Given the description of an element on the screen output the (x, y) to click on. 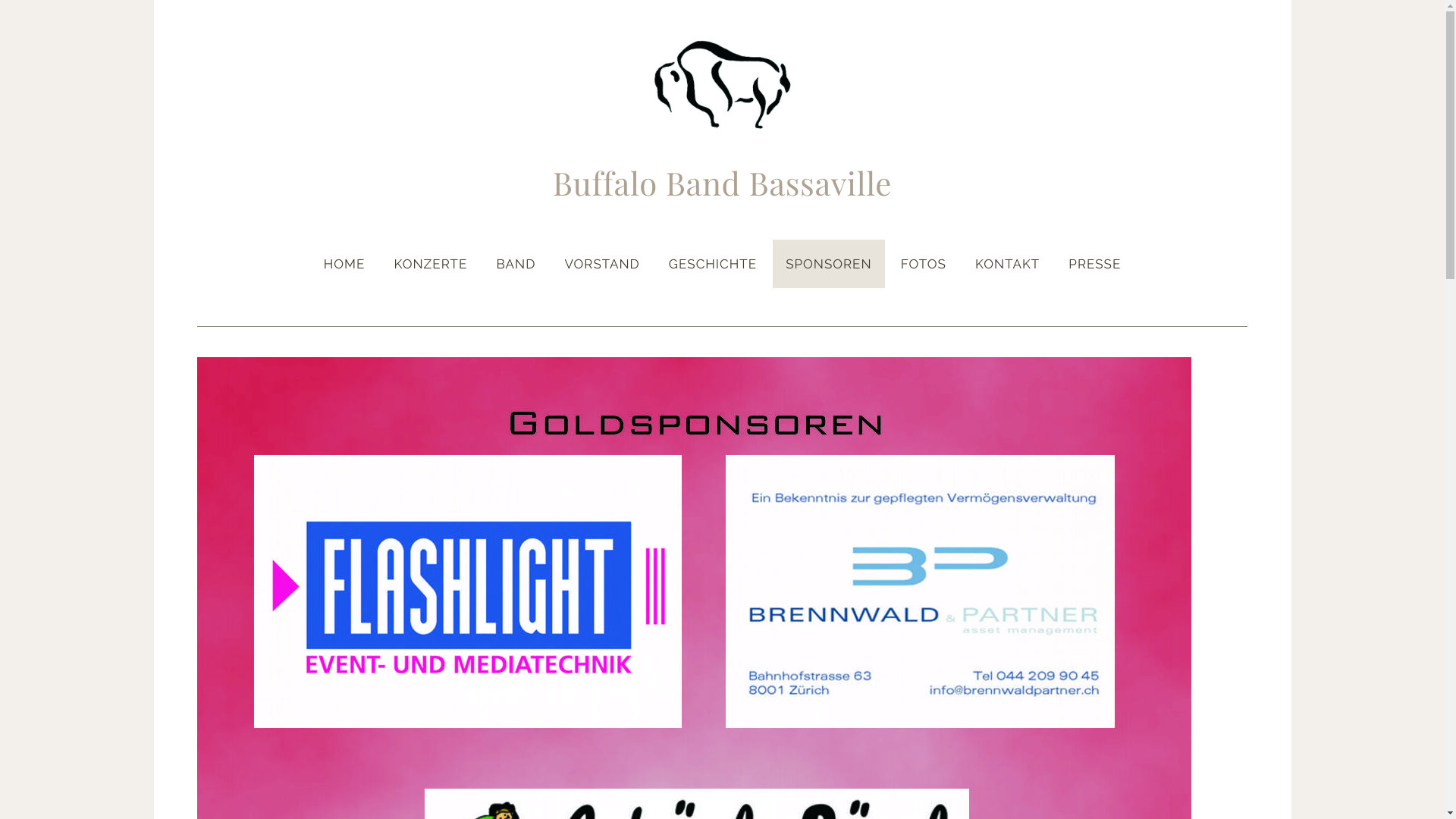
FOTOS Element type: text (923, 263)
KONTAKT Element type: text (1007, 263)
SPONSOREN Element type: text (828, 263)
Buffalo Band Bassaville Element type: hover (722, 84)
Buffalo Band Bassaville Element type: text (722, 185)
KONZERTE Element type: text (430, 263)
PRESSE Element type: text (1094, 263)
BAND Element type: text (515, 263)
VORSTAND Element type: text (601, 263)
GESCHICHTE Element type: text (712, 263)
HOME Element type: text (344, 263)
